Given the description of an element on the screen output the (x, y) to click on. 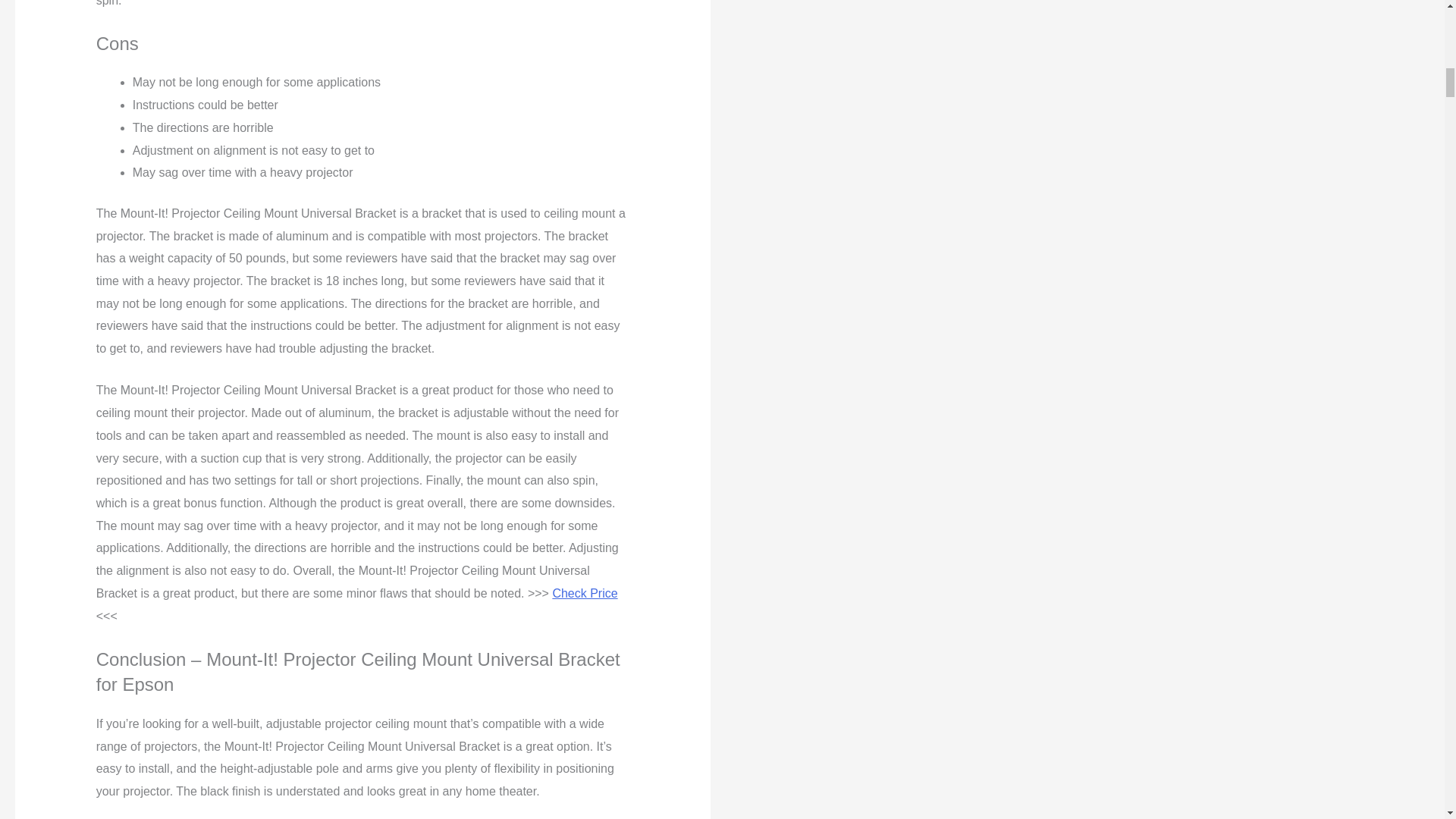
Check Price (584, 593)
